Given the description of an element on the screen output the (x, y) to click on. 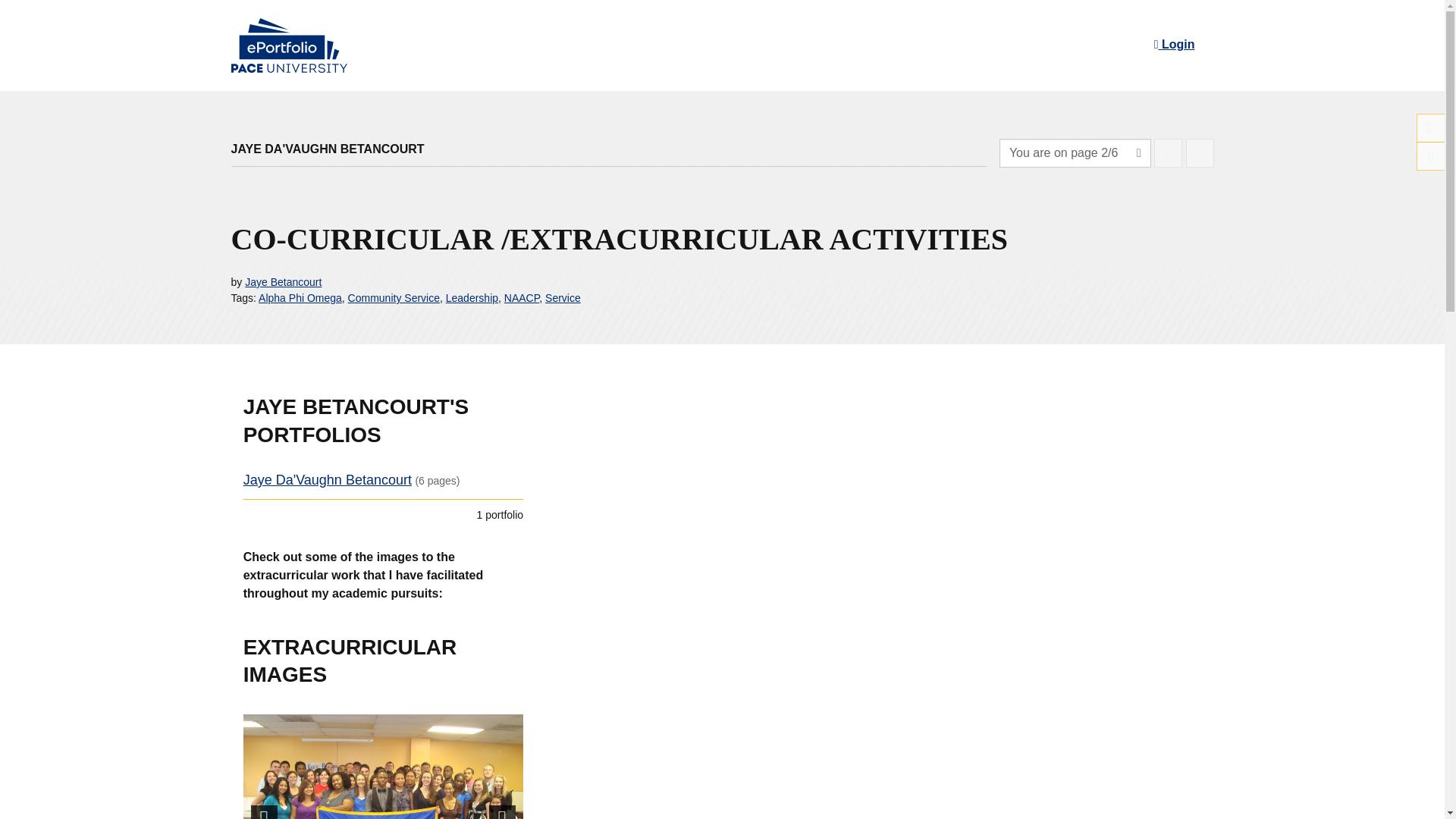
Leadership (471, 297)
Jaye Betancourt (282, 282)
Jaye Da'Vaughn Betancourt (327, 479)
NAACP (520, 297)
Previous page (1168, 152)
Login (1174, 44)
Alpha Phi Omega (300, 297)
Service (562, 297)
Next page (1200, 152)
Community Service (393, 297)
